Given the description of an element on the screen output the (x, y) to click on. 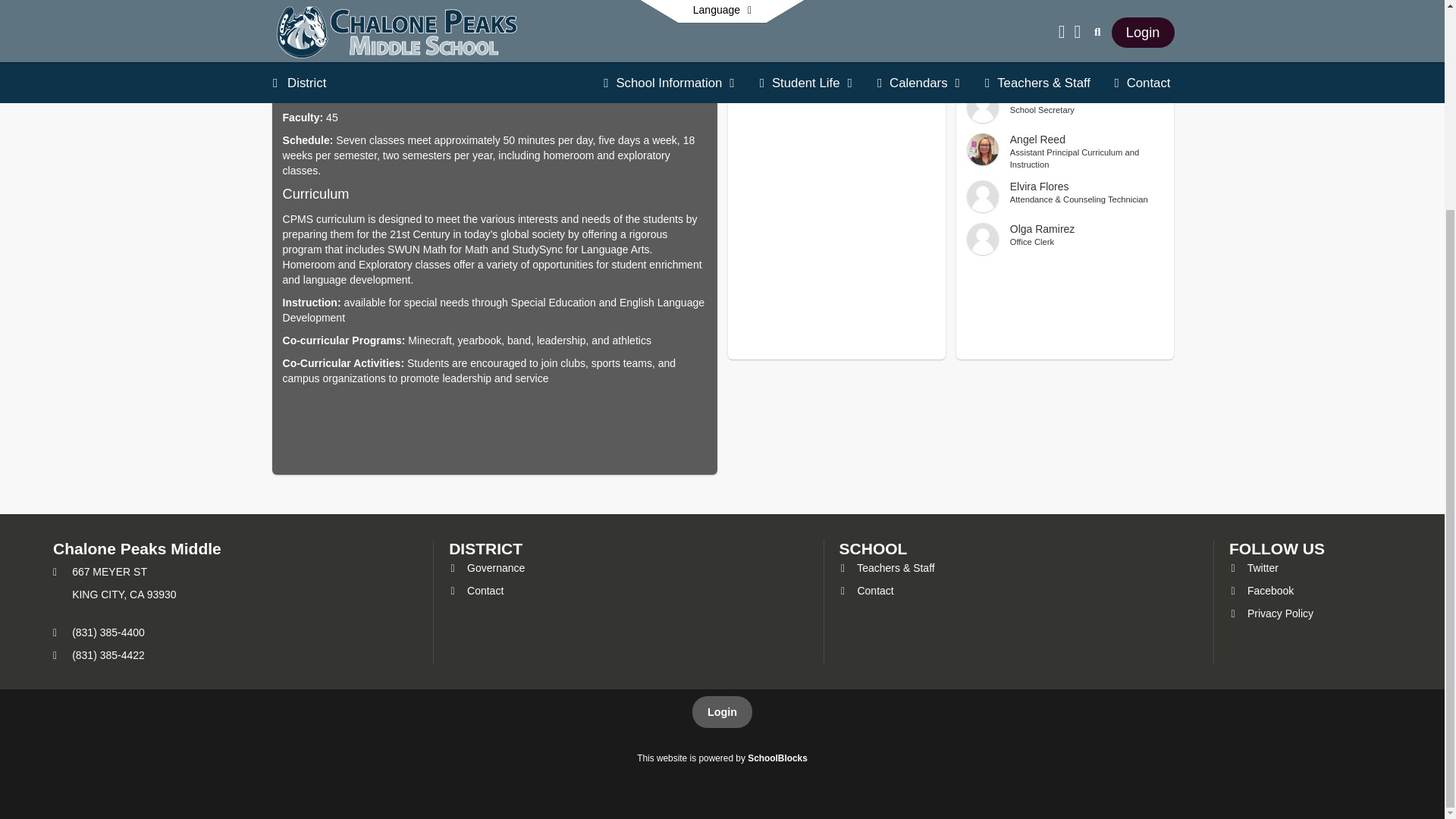
SCHOOL (873, 548)
Governance (486, 567)
Privacy Policy (1270, 613)
Angel Reed (1064, 151)
Elvira Flores (1064, 238)
Twitter (1064, 196)
Privacy Policy (1253, 567)
Contact (1064, 106)
Facebook (1270, 613)
Contact (475, 590)
Facebook (1261, 590)
Login (866, 590)
Yolanda Perez (1261, 590)
